Given the description of an element on the screen output the (x, y) to click on. 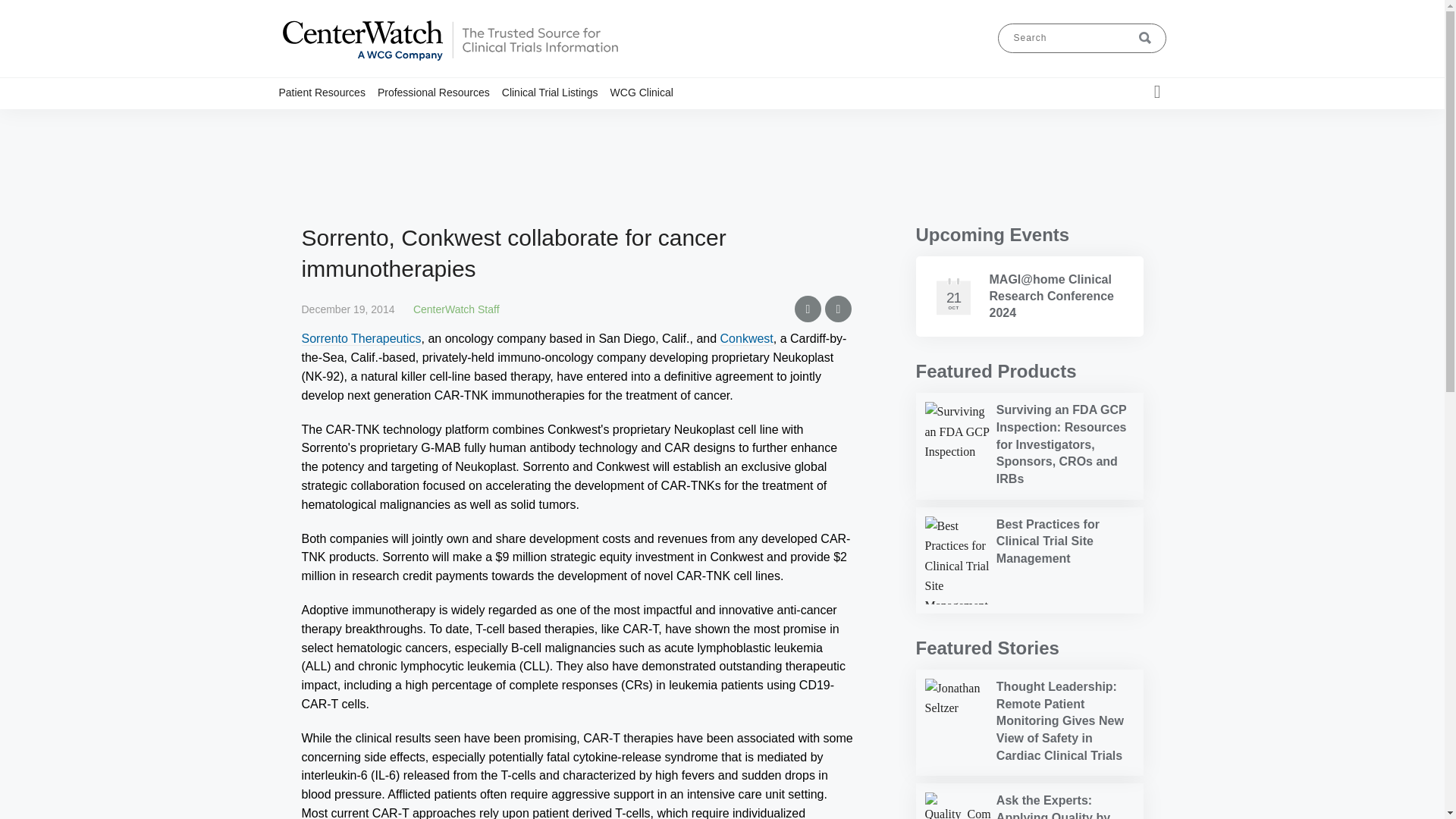
CenterWatch Staff (456, 309)
Research Center Profiles (453, 121)
CenterWatch Logo (449, 60)
Featured Products (996, 371)
Books (477, 121)
Training Guides (472, 121)
Events (483, 121)
Professional Resources (439, 91)
Submit (1144, 37)
White Papers (487, 121)
